Given the description of an element on the screen output the (x, y) to click on. 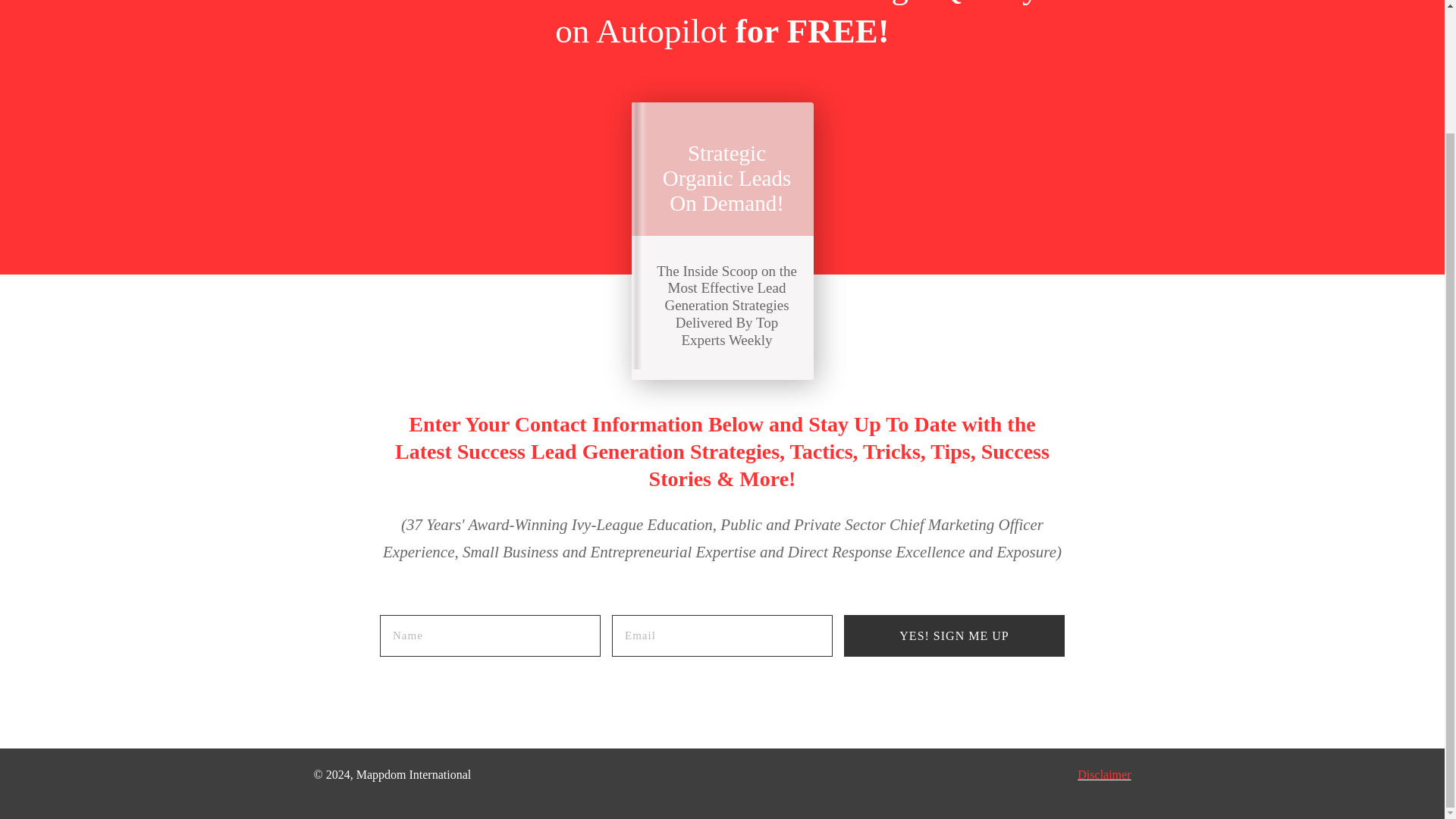
YES! SIGN ME UP (954, 635)
Disclaimer (1104, 774)
